Given the description of an element on the screen output the (x, y) to click on. 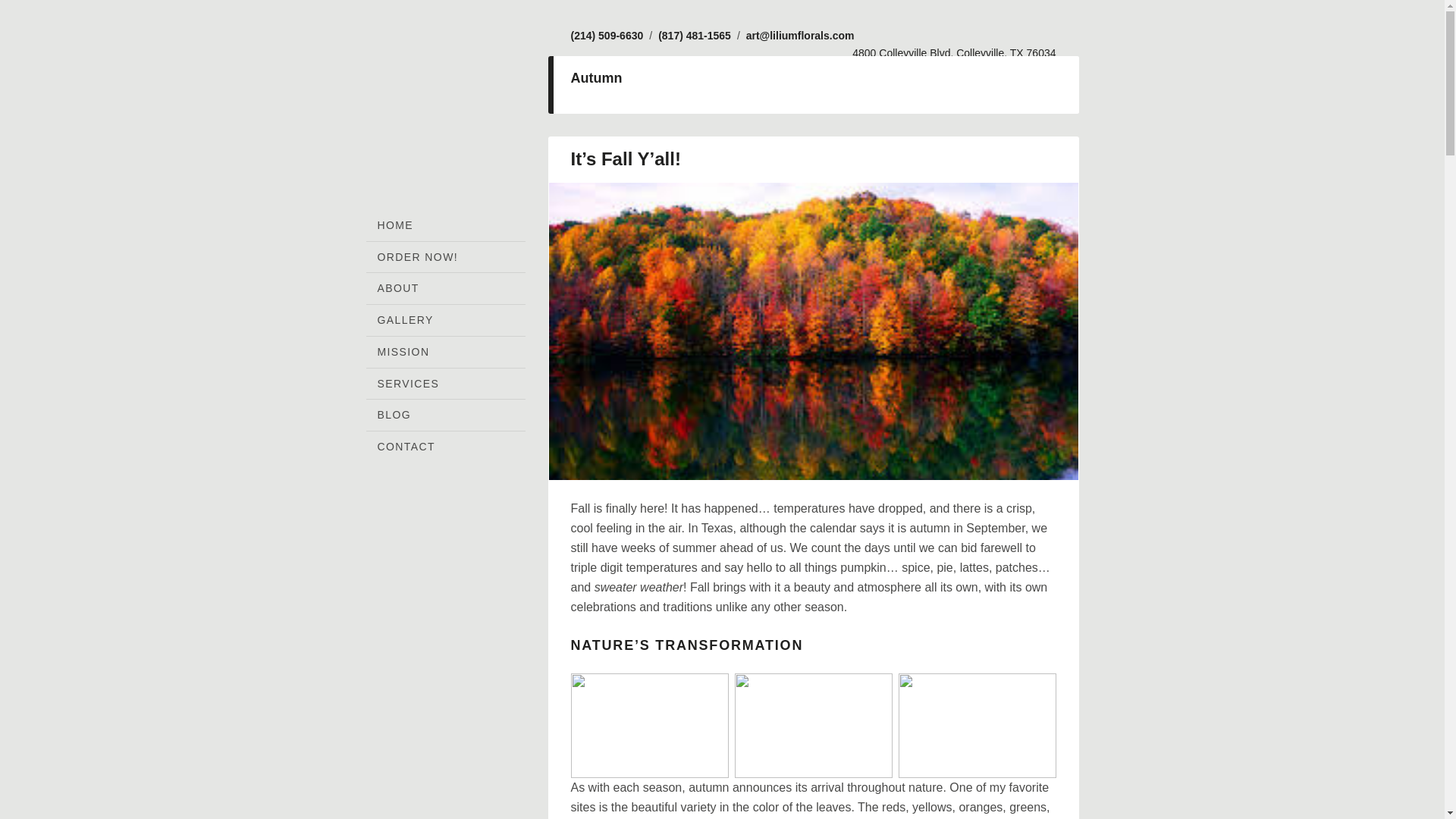
MISSION (444, 351)
HOME (444, 224)
SERVICES (444, 383)
ABOUT (444, 287)
BLOG (444, 414)
GALLERY (444, 319)
ORDER NOW! (444, 256)
CONTACT (444, 446)
